Given the description of an element on the screen output the (x, y) to click on. 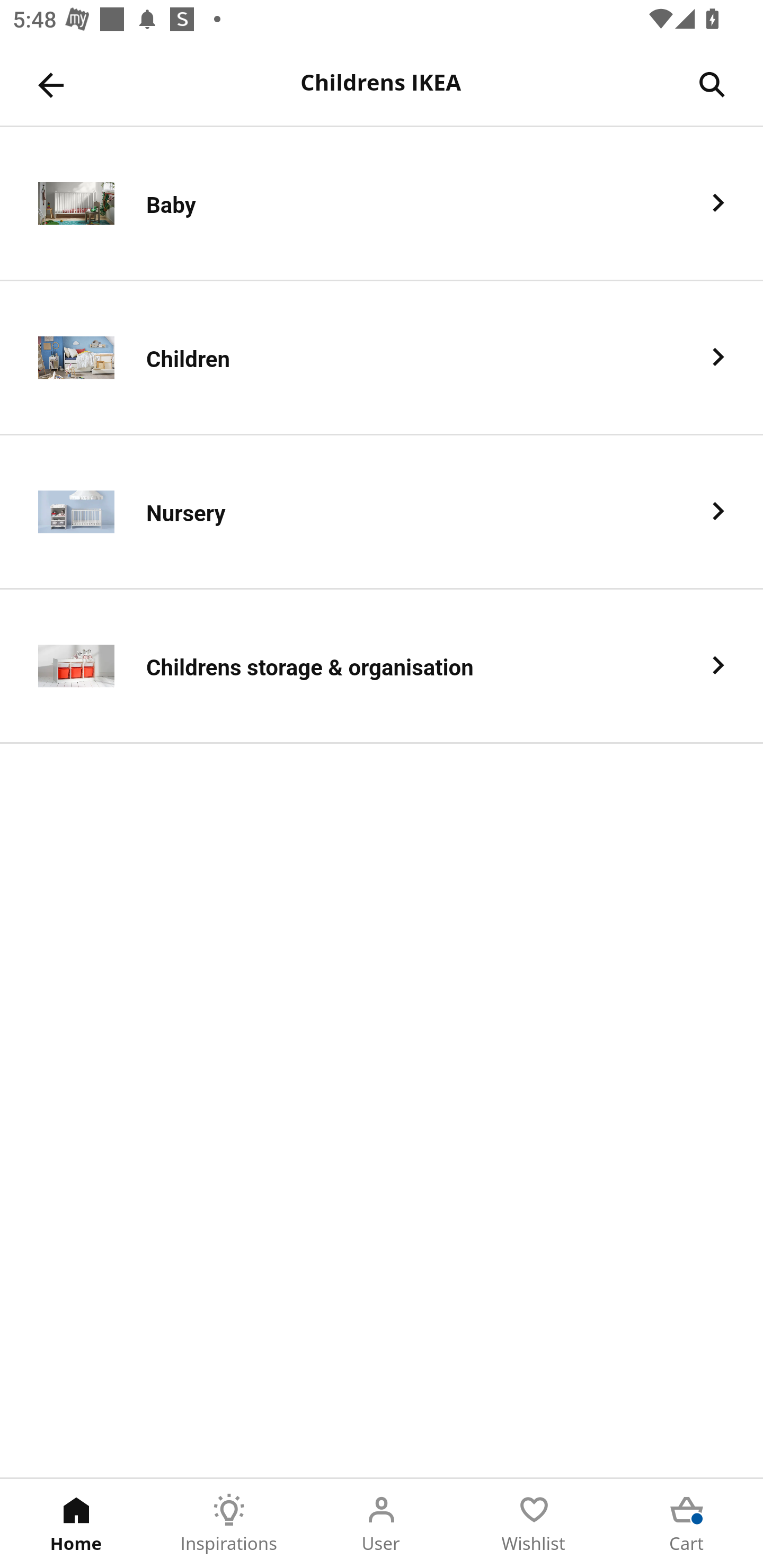
Baby (381, 203)
Children (381, 357)
Nursery (381, 512)
Childrens storage & organisation (381, 666)
Home
Tab 1 of 5 (76, 1522)
Inspirations
Tab 2 of 5 (228, 1522)
User
Tab 3 of 5 (381, 1522)
Wishlist
Tab 4 of 5 (533, 1522)
Cart
Tab 5 of 5 (686, 1522)
